Given the description of an element on the screen output the (x, y) to click on. 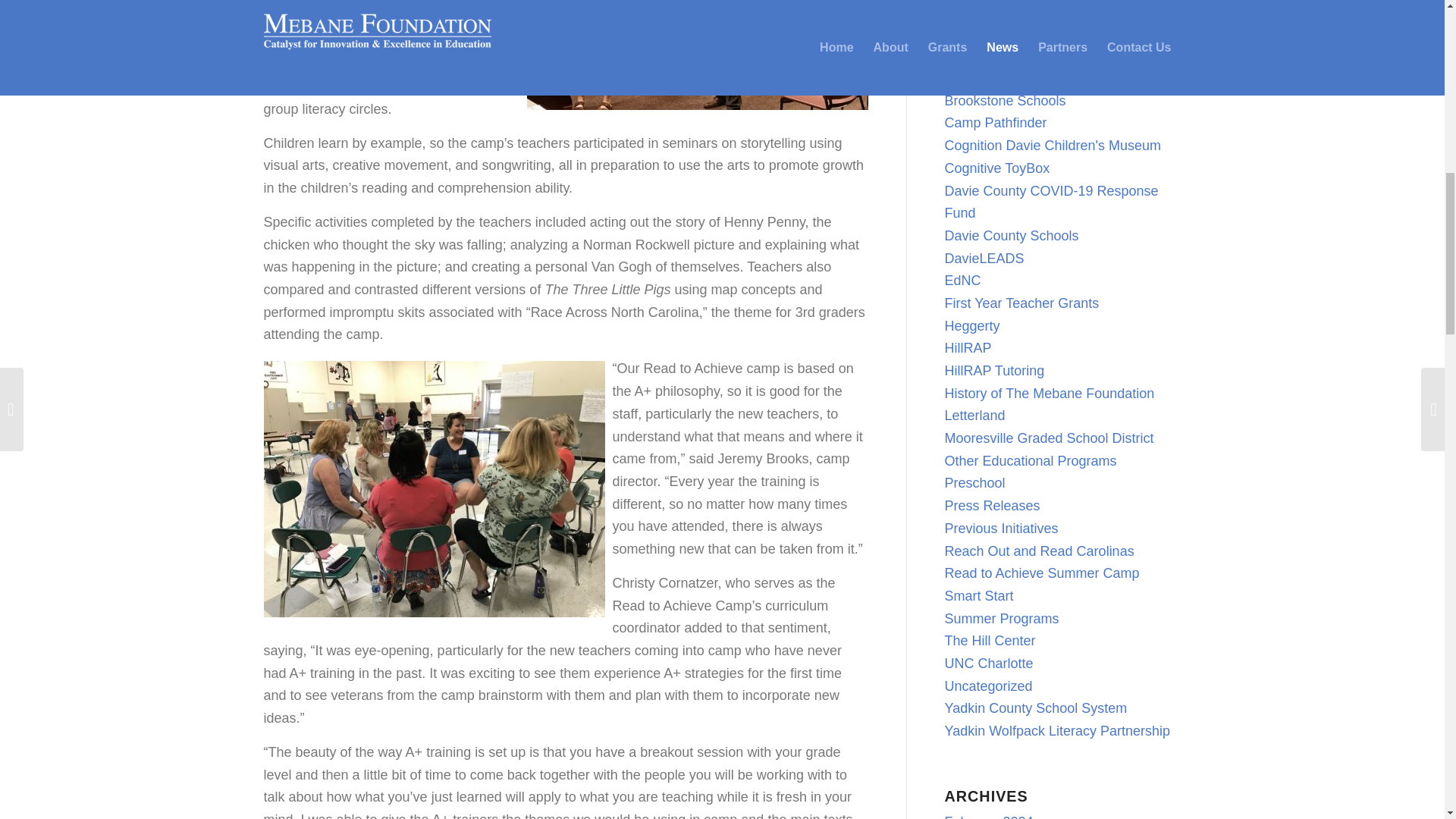
Hill Center (295, 86)
